Given the description of an element on the screen output the (x, y) to click on. 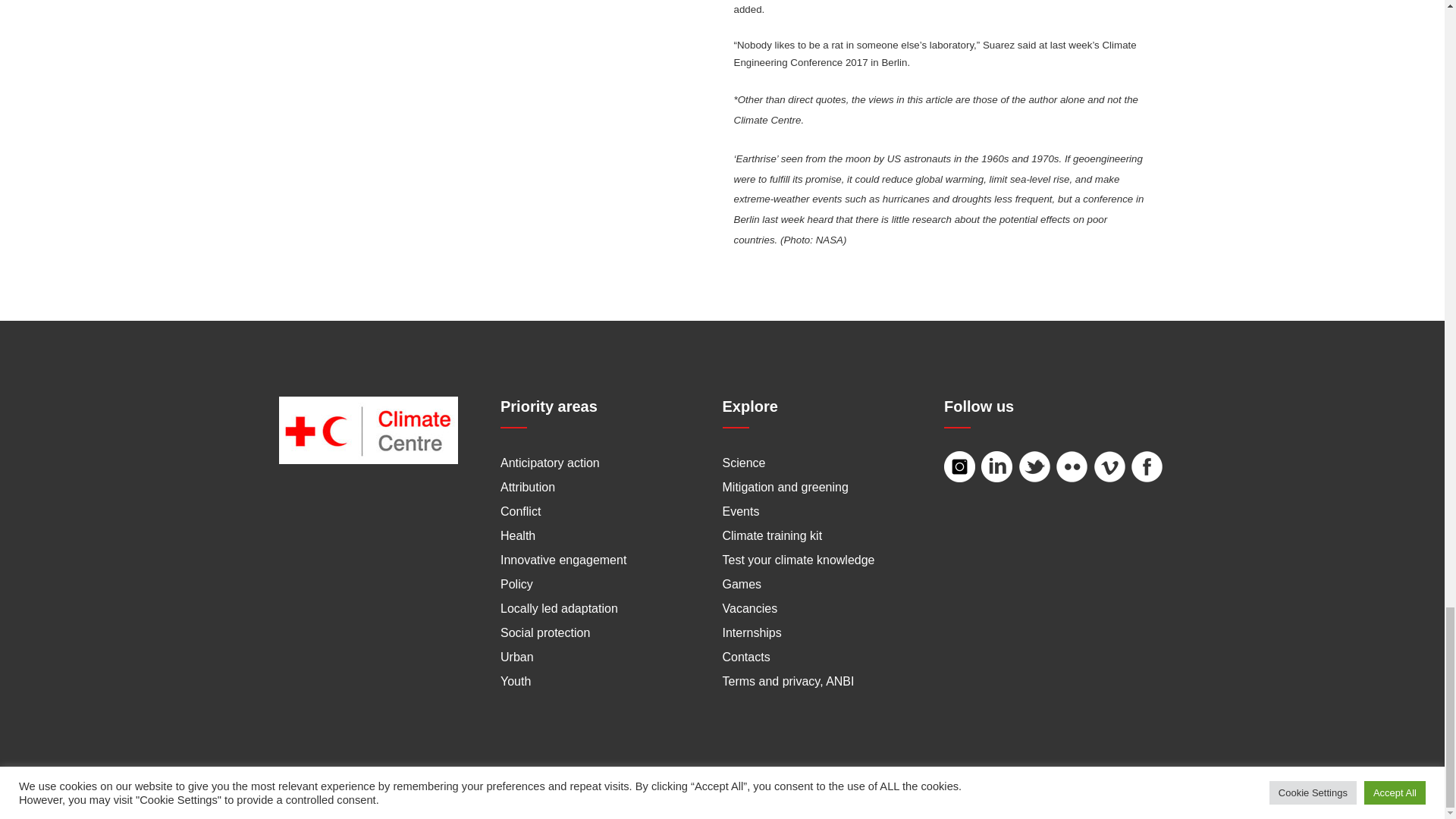
Attribution (527, 486)
Mitigation and greening (784, 486)
Climate training kit (772, 535)
Social protection (544, 632)
Vacancies (749, 608)
Innovative engagement (563, 559)
Events (740, 511)
Science (743, 462)
Anticipatory action (549, 462)
Policy (516, 584)
Locally led adaptation (558, 608)
Health (517, 535)
Conflict (520, 511)
Games (741, 584)
Urban (517, 656)
